Given the description of an element on the screen output the (x, y) to click on. 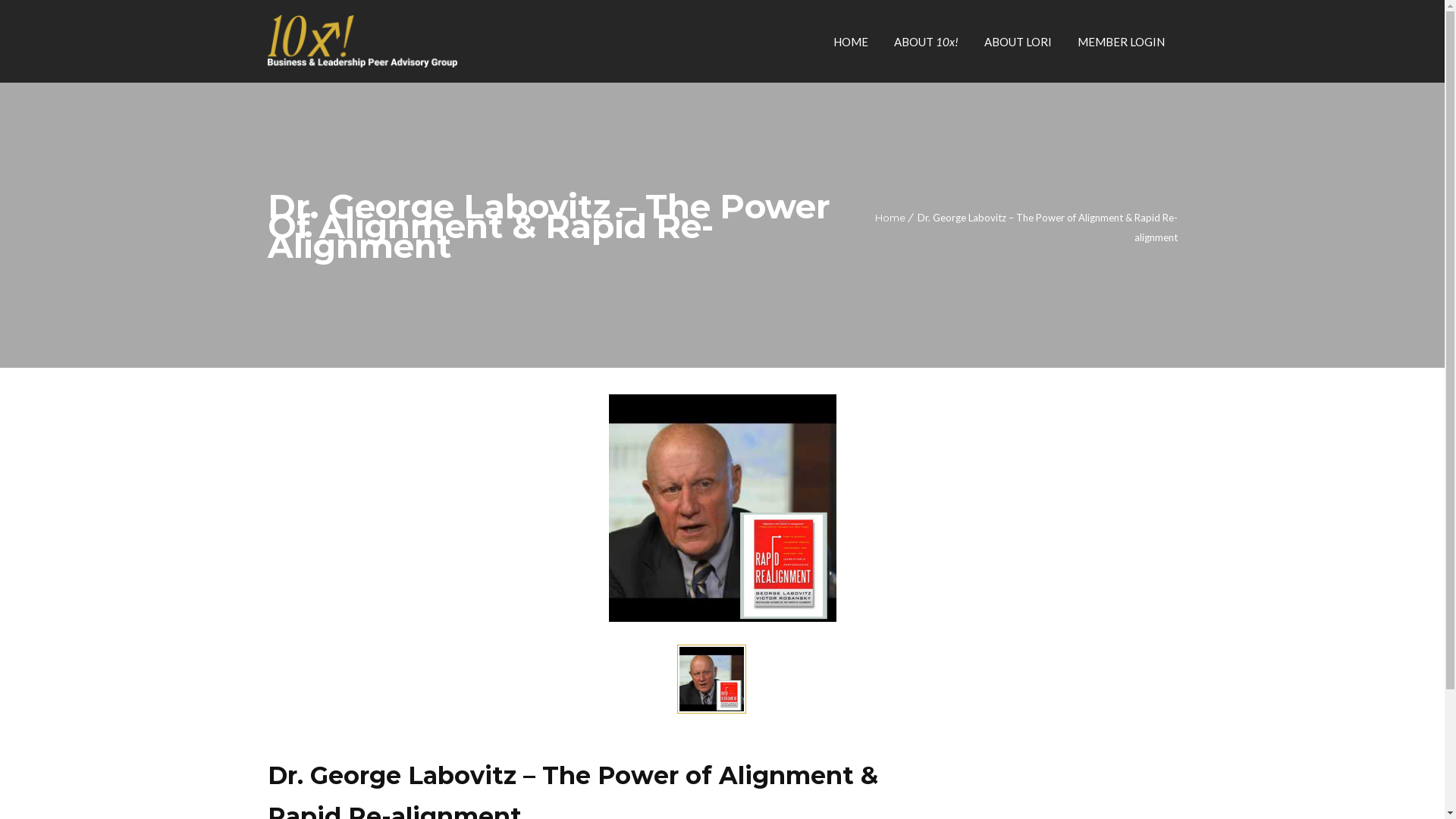
ABOUT 10x! Element type: text (925, 41)
ABOUT LORI Element type: text (1017, 41)
HOME Element type: text (850, 41)
10x! Peers Element type: hover (361, 41)
MEMBER LOGIN Element type: text (1121, 41)
Home Element type: text (890, 217)
